Given the description of an element on the screen output the (x, y) to click on. 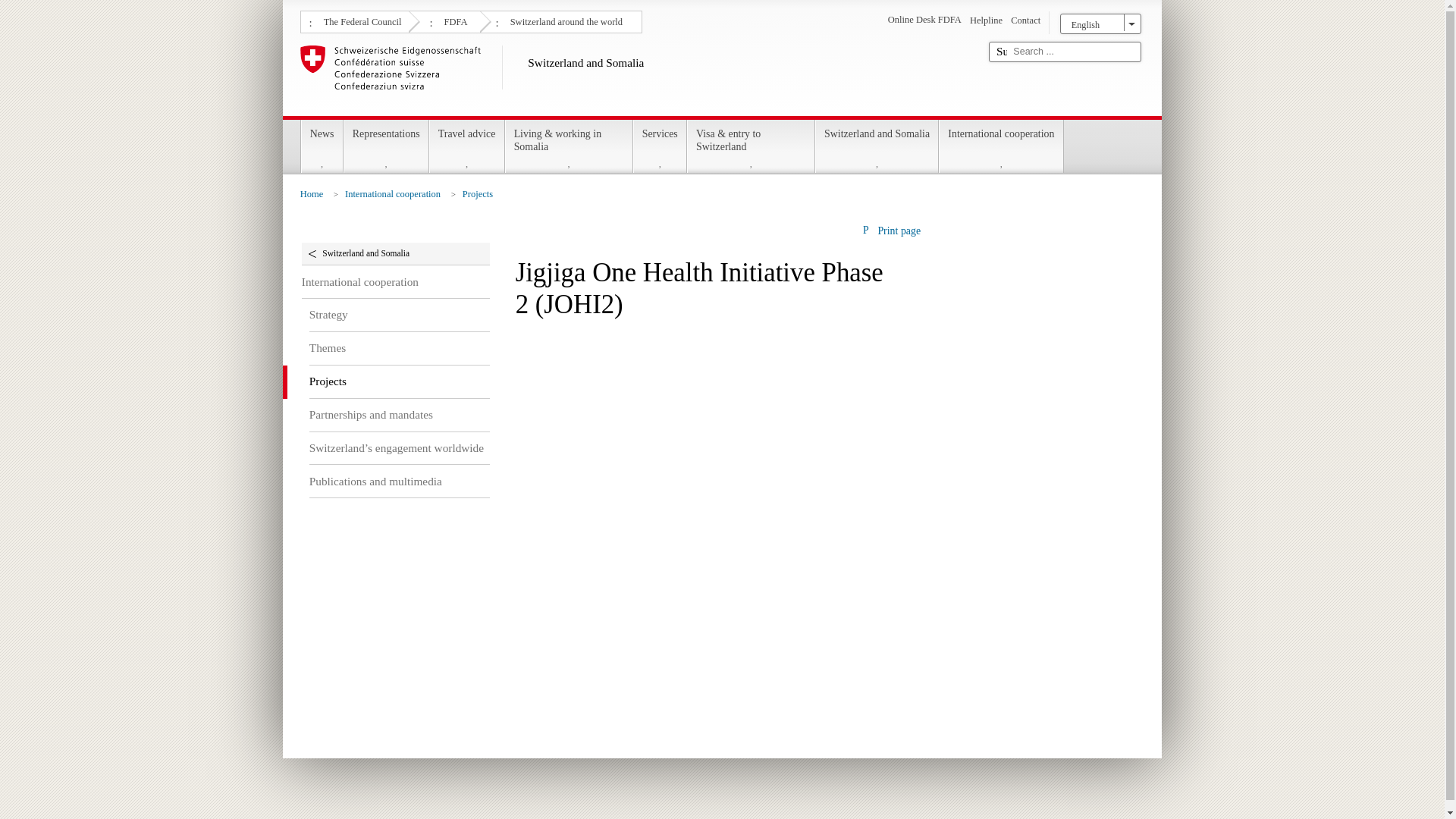
The Federal Council (360, 20)
Switzerland and Somalia (637, 76)
FDFA (454, 20)
Switzerland around the world (564, 20)
